Given the description of an element on the screen output the (x, y) to click on. 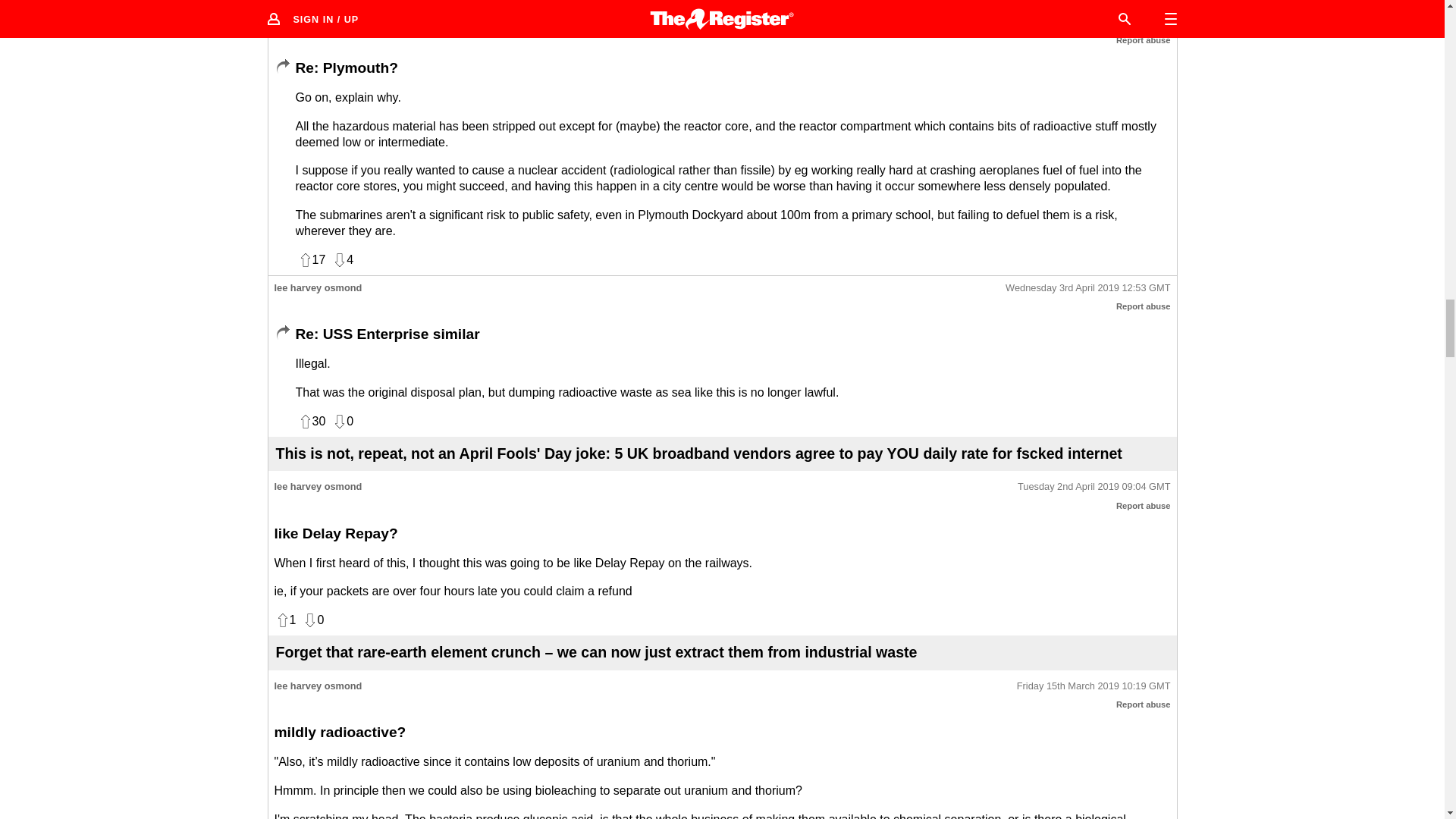
Report abuse (1143, 40)
Report abuse (1143, 505)
Report abuse (1143, 306)
